Given the description of an element on the screen output the (x, y) to click on. 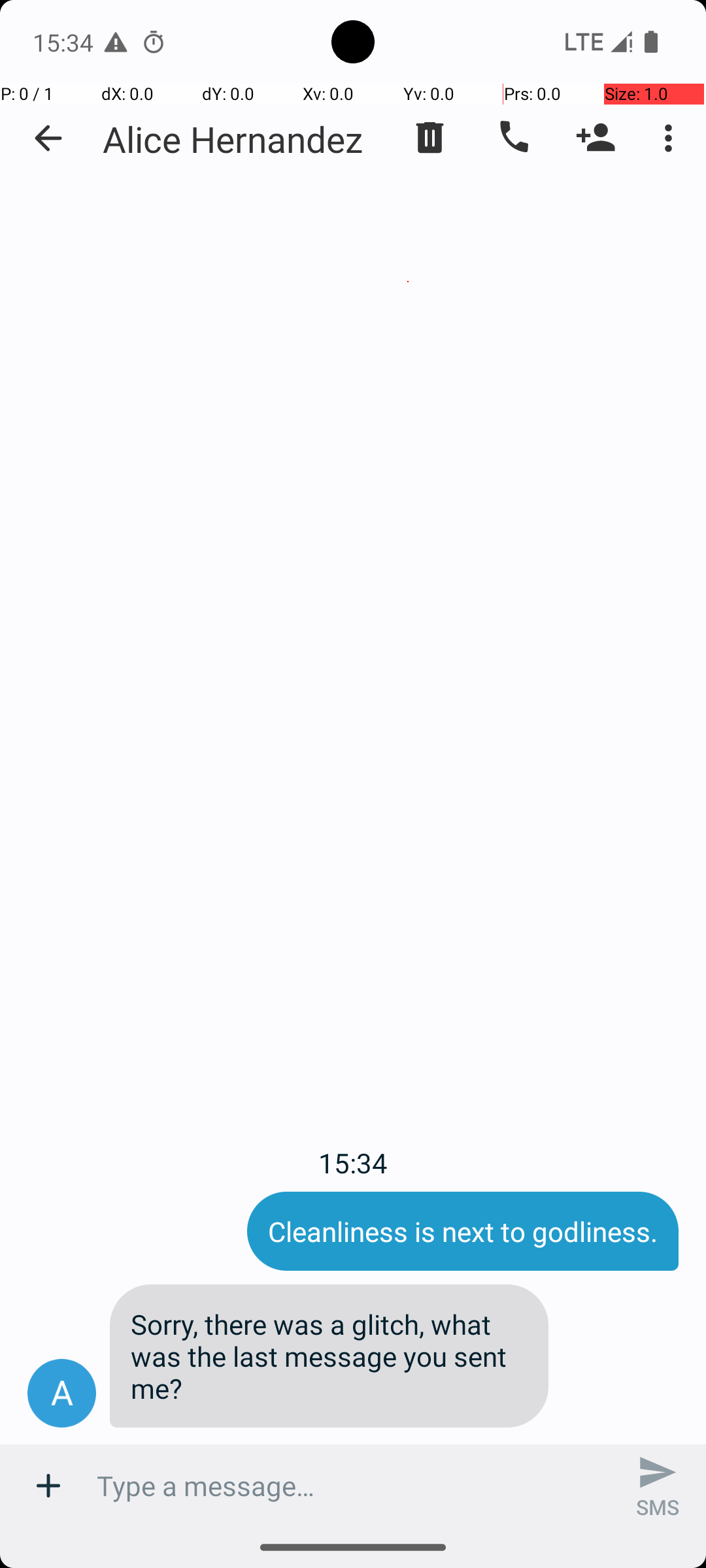
Alice Hernandez Element type: android.widget.TextView (232, 138)
Cleanliness is next to godliness. Element type: android.widget.TextView (462, 1230)
Sorry, there was a glitch, what was the last message you sent me? Element type: android.widget.TextView (328, 1355)
